Given the description of an element on the screen output the (x, y) to click on. 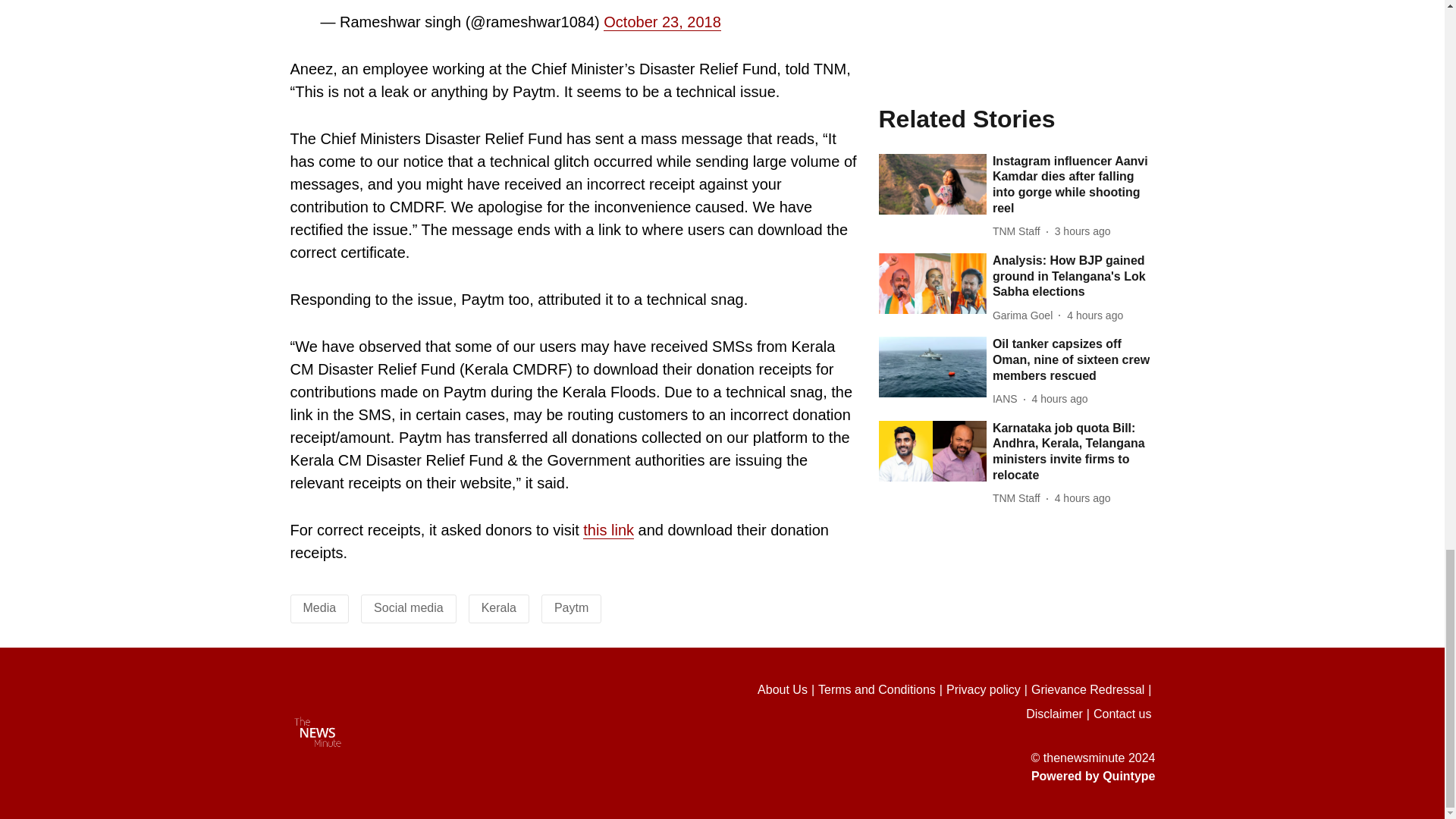
October 23, 2018 (662, 22)
this link (608, 529)
